Given the description of an element on the screen output the (x, y) to click on. 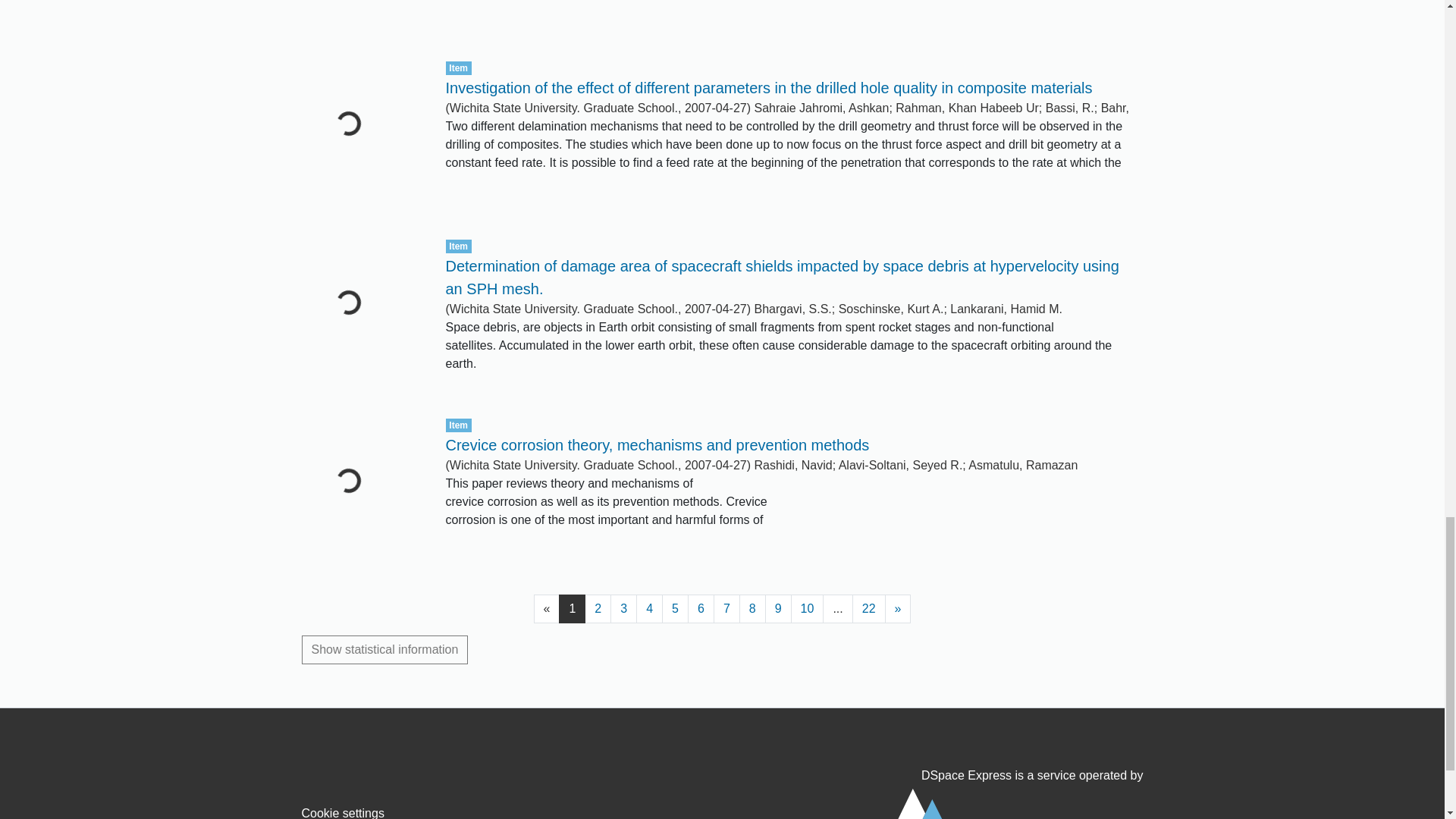
Crevice corrosion theory, mechanisms and prevention methods (657, 444)
Loading... (362, 16)
